Given the description of an element on the screen output the (x, y) to click on. 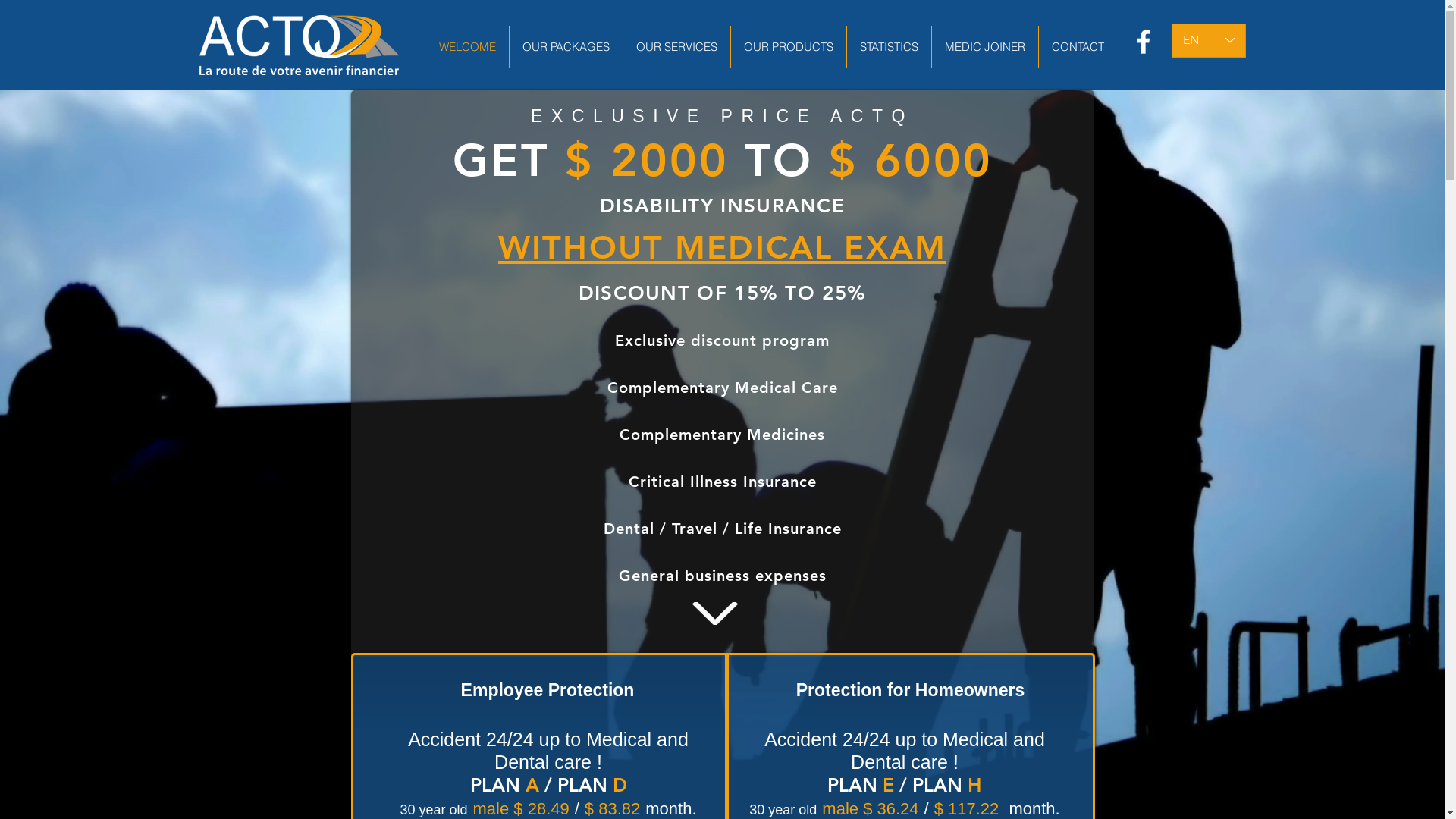
STATISTICS Element type: text (888, 46)
OUR SERVICES Element type: text (675, 46)
CONTACT Element type: text (1076, 46)
OUR PACKAGES Element type: text (564, 46)
Protection for Homeowners Element type: text (909, 689)
Employee Protection Element type: text (547, 689)
OUR PRODUCTS Element type: text (787, 46)
WELCOME Element type: text (467, 46)
MEDIC JOINER Element type: text (984, 46)
